Given the description of an element on the screen output the (x, y) to click on. 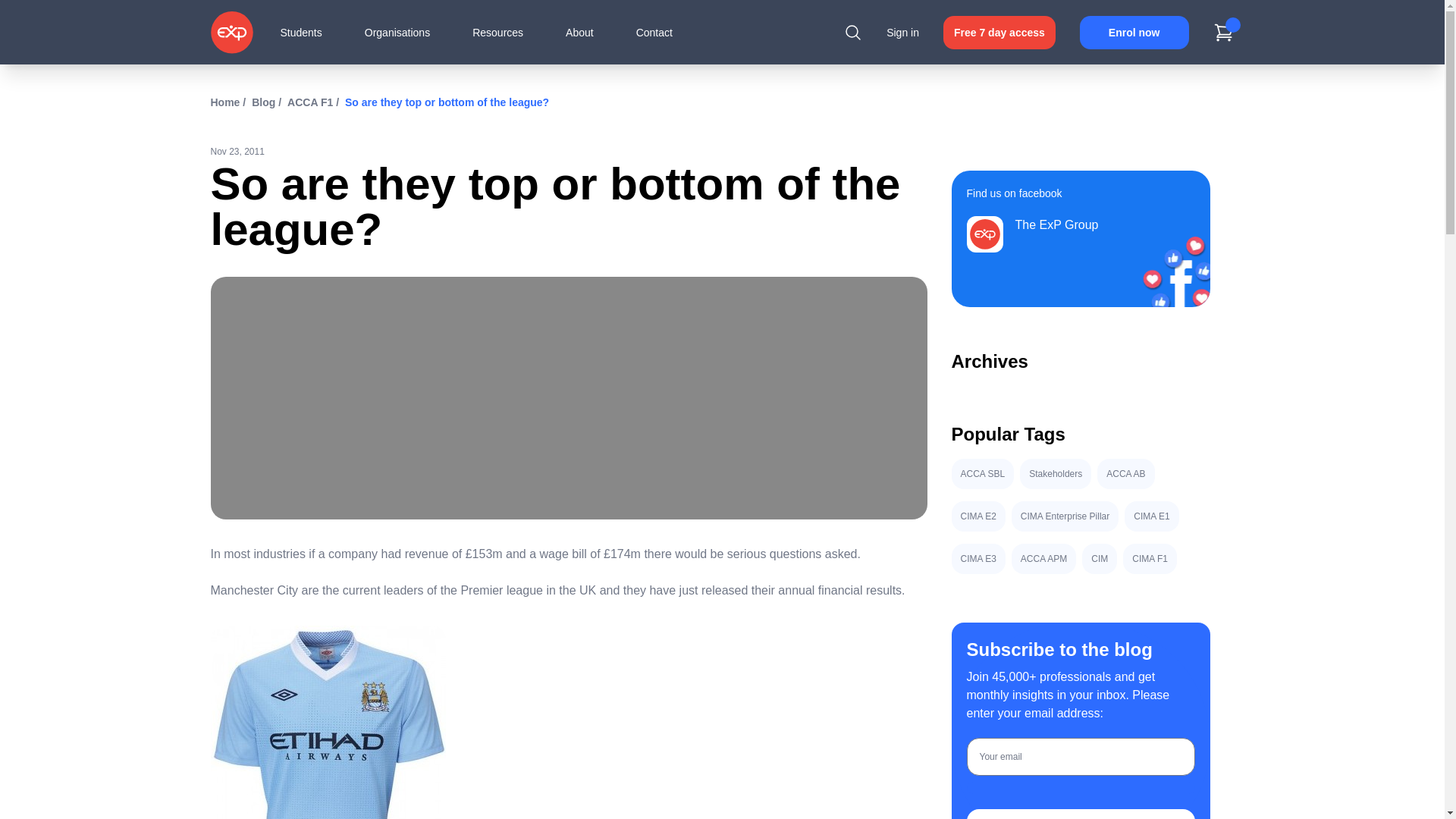
Subscribe (1079, 814)
Enrol now (1134, 31)
Contact (654, 31)
Search (852, 31)
Free 7 day access (999, 31)
Sign in (902, 31)
Go to your Cart (1223, 31)
